Given the description of an element on the screen output the (x, y) to click on. 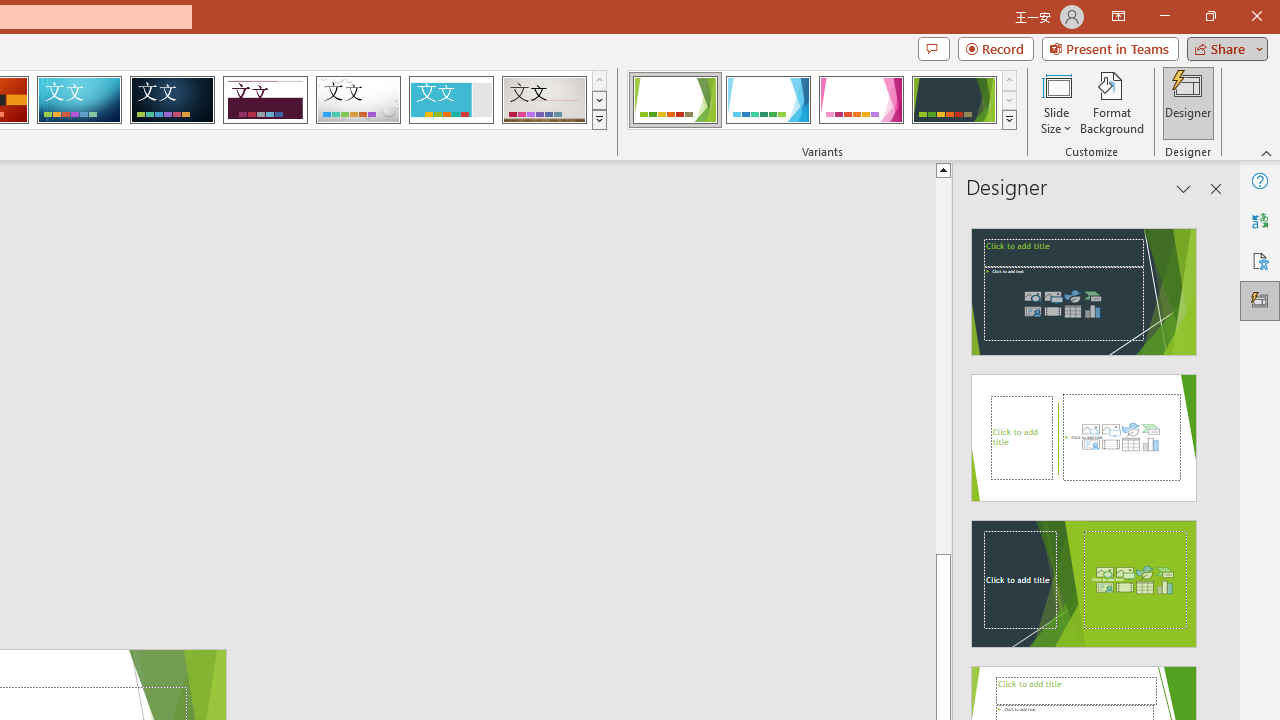
Design Idea (1083, 577)
AutomationID: ThemeVariantsGallery (822, 99)
Slide Size (1056, 102)
Page up (943, 364)
Dividend (265, 100)
Droplet (358, 100)
Themes (598, 120)
